Given the description of an element on the screen output the (x, y) to click on. 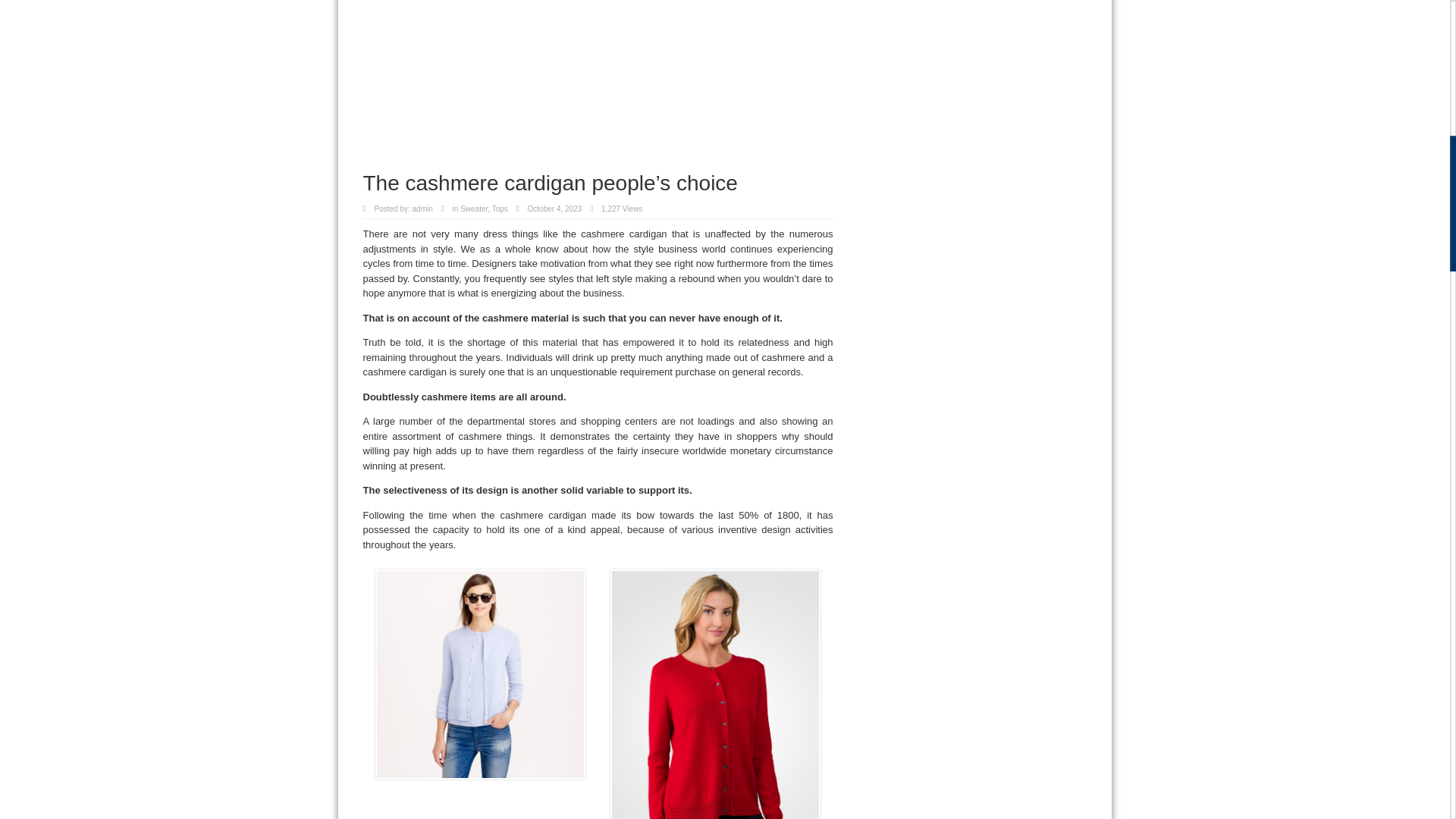
Advertisement (597, 85)
Sweater (473, 208)
Tops (500, 208)
admin (422, 208)
